Given the description of an element on the screen output the (x, y) to click on. 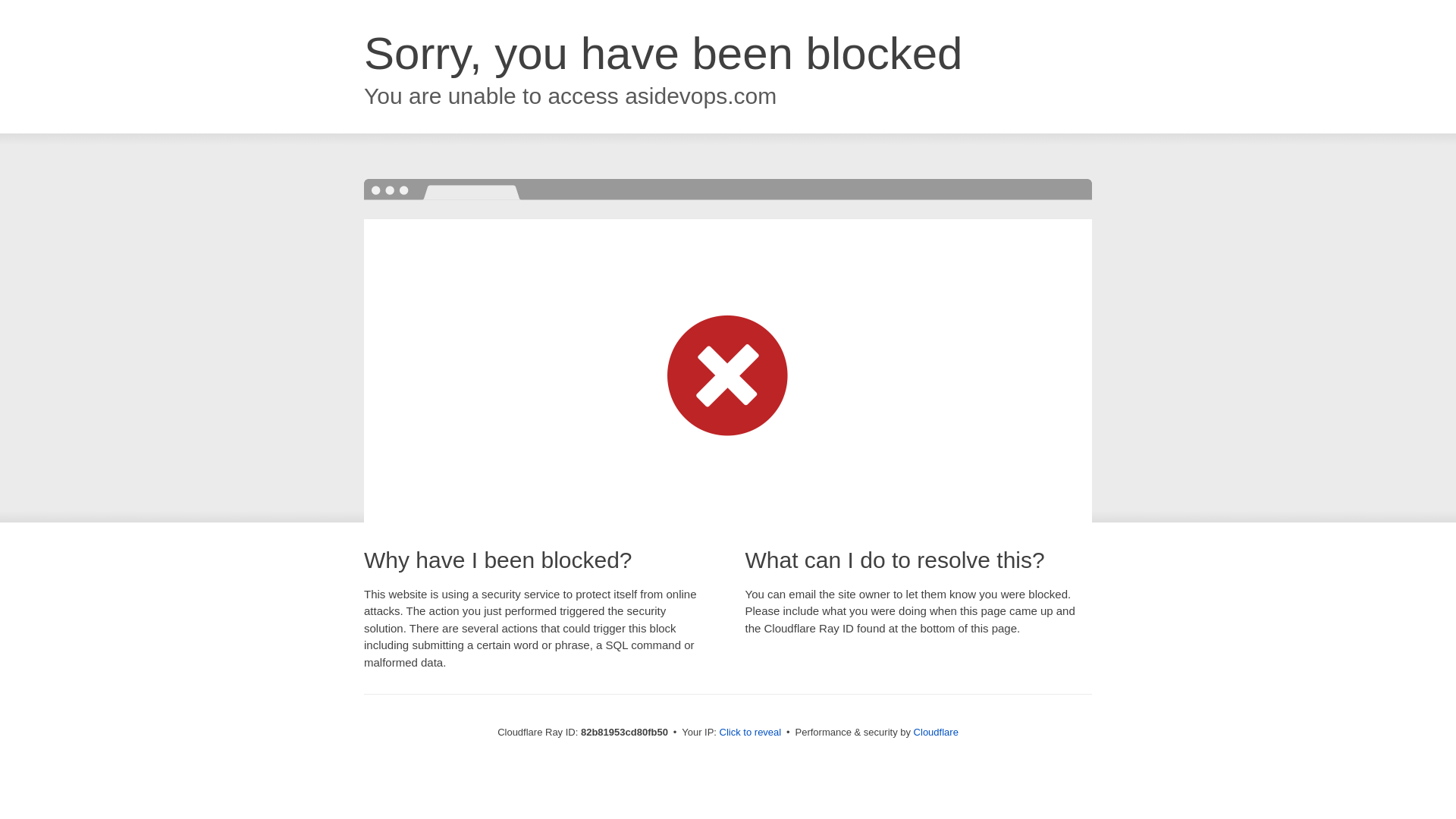
Click to reveal Element type: text (750, 732)
Cloudflare Element type: text (935, 731)
